Given the description of an element on the screen output the (x, y) to click on. 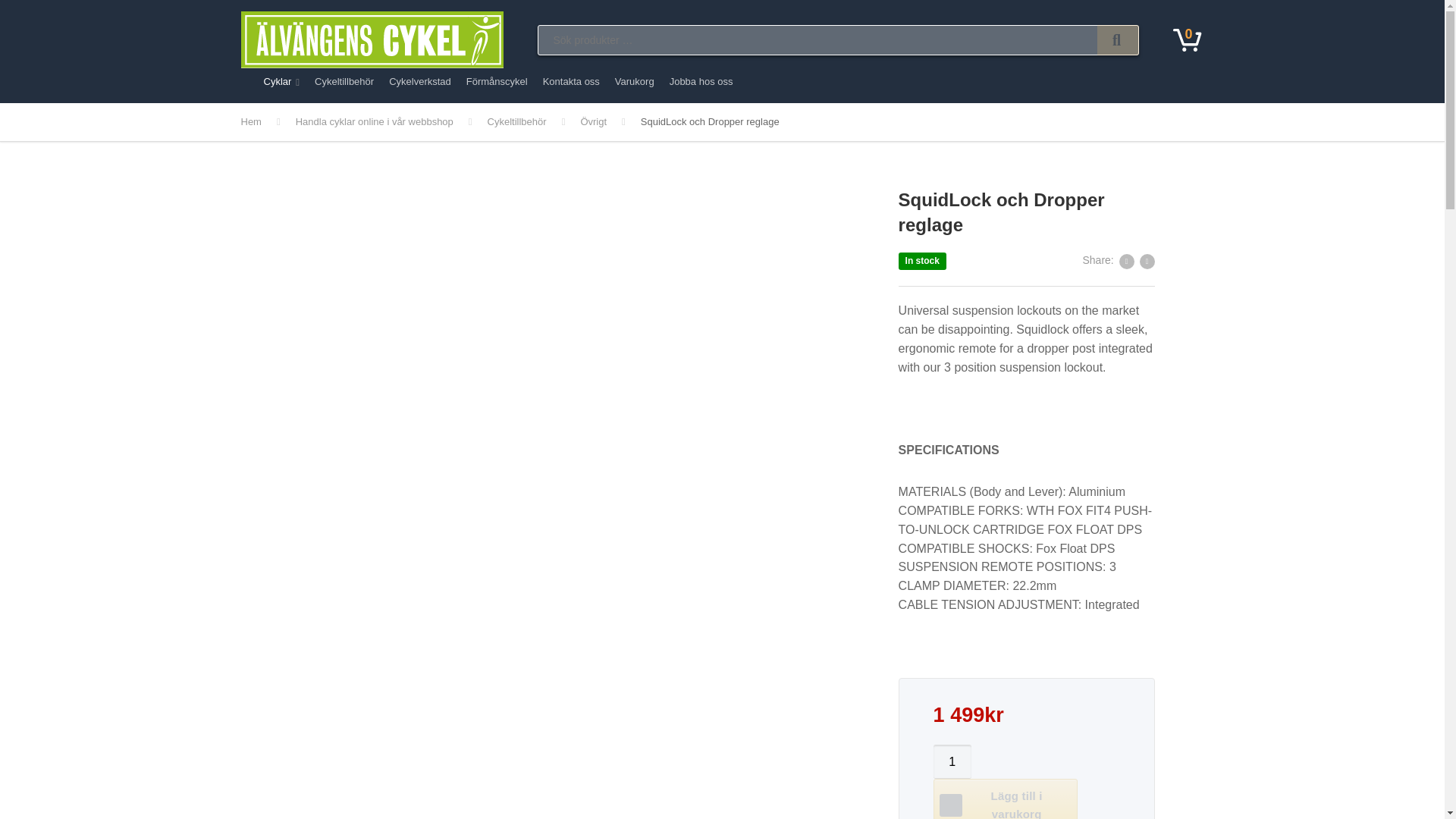
Jobba hos oss (701, 85)
Cyklar (281, 85)
Hem (268, 121)
1 (952, 761)
Cykelverkstad (419, 85)
Varukorg (634, 85)
0 (1188, 39)
Kontakta oss (571, 85)
